Given the description of an element on the screen output the (x, y) to click on. 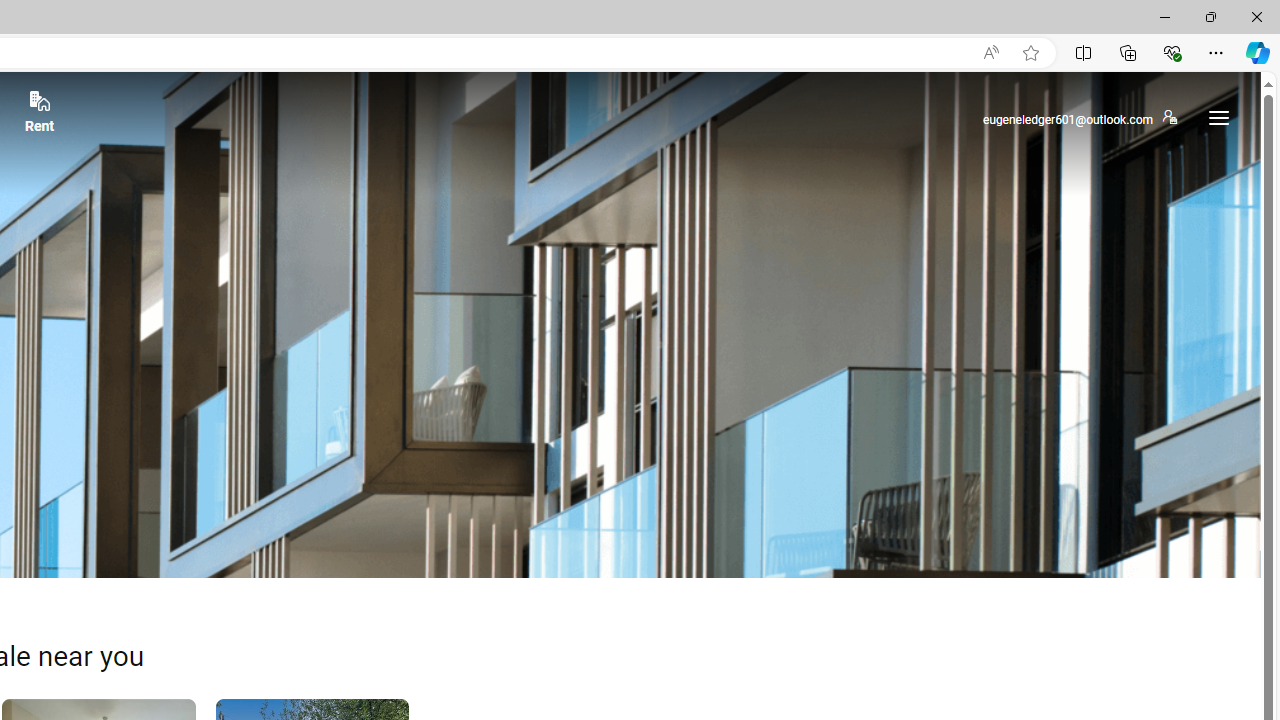
hamburger button  (1218, 117)
eugeneledger601@outlook.com (1079, 117)
